Given the description of an element on the screen output the (x, y) to click on. 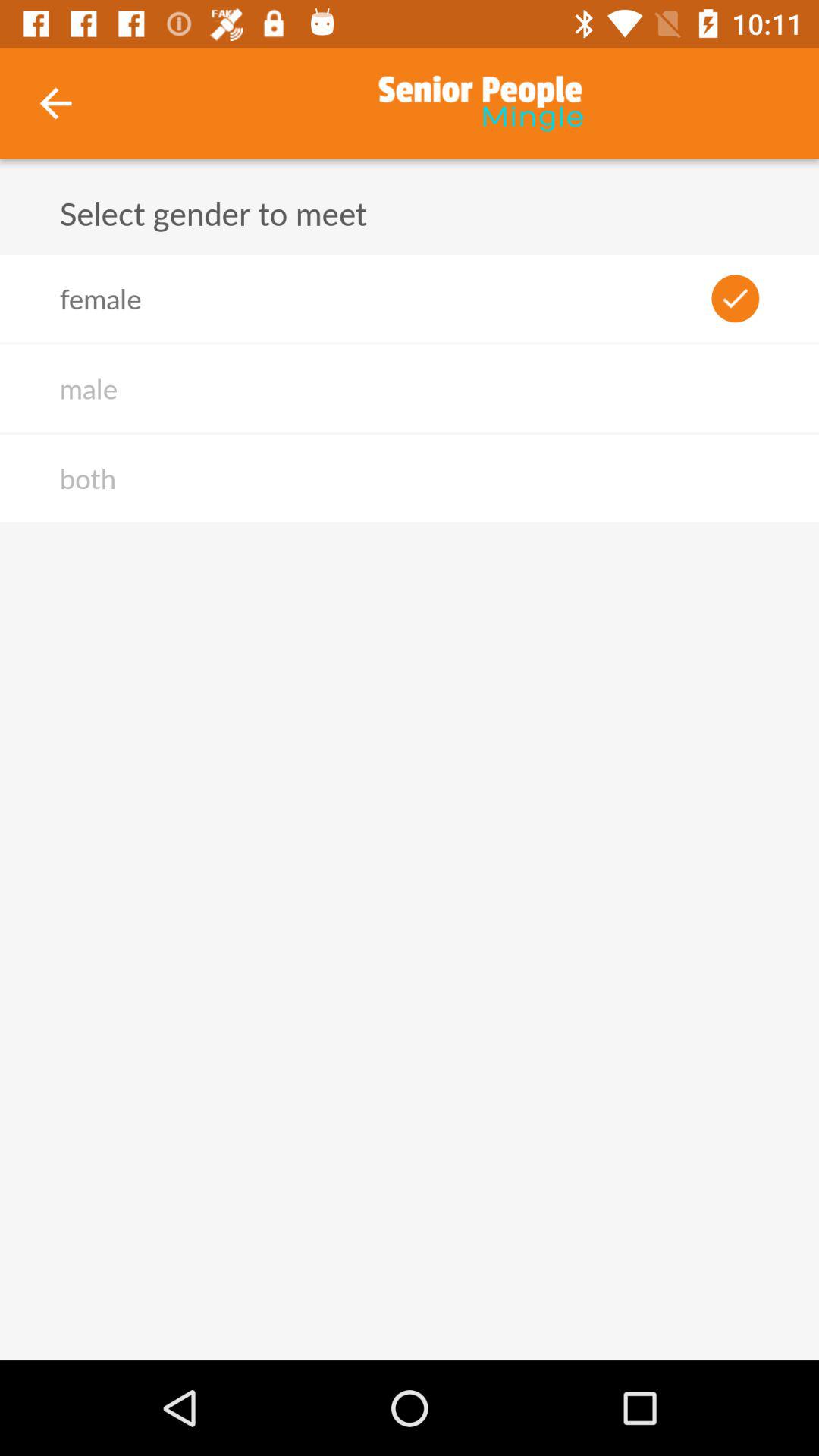
open the item to the right of female (734, 298)
